Given the description of an element on the screen output the (x, y) to click on. 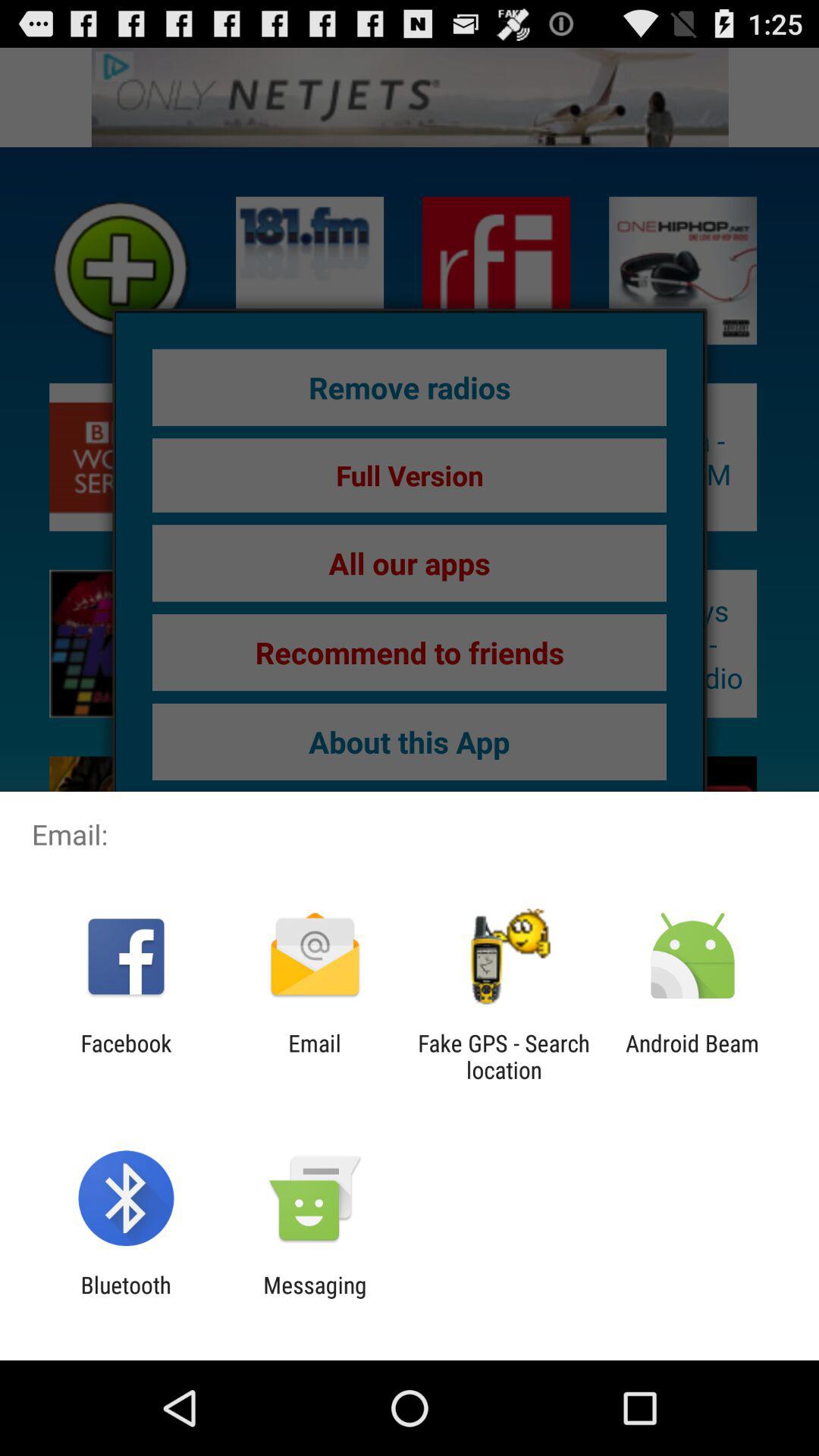
press item to the left of the email item (125, 1056)
